Given the description of an element on the screen output the (x, y) to click on. 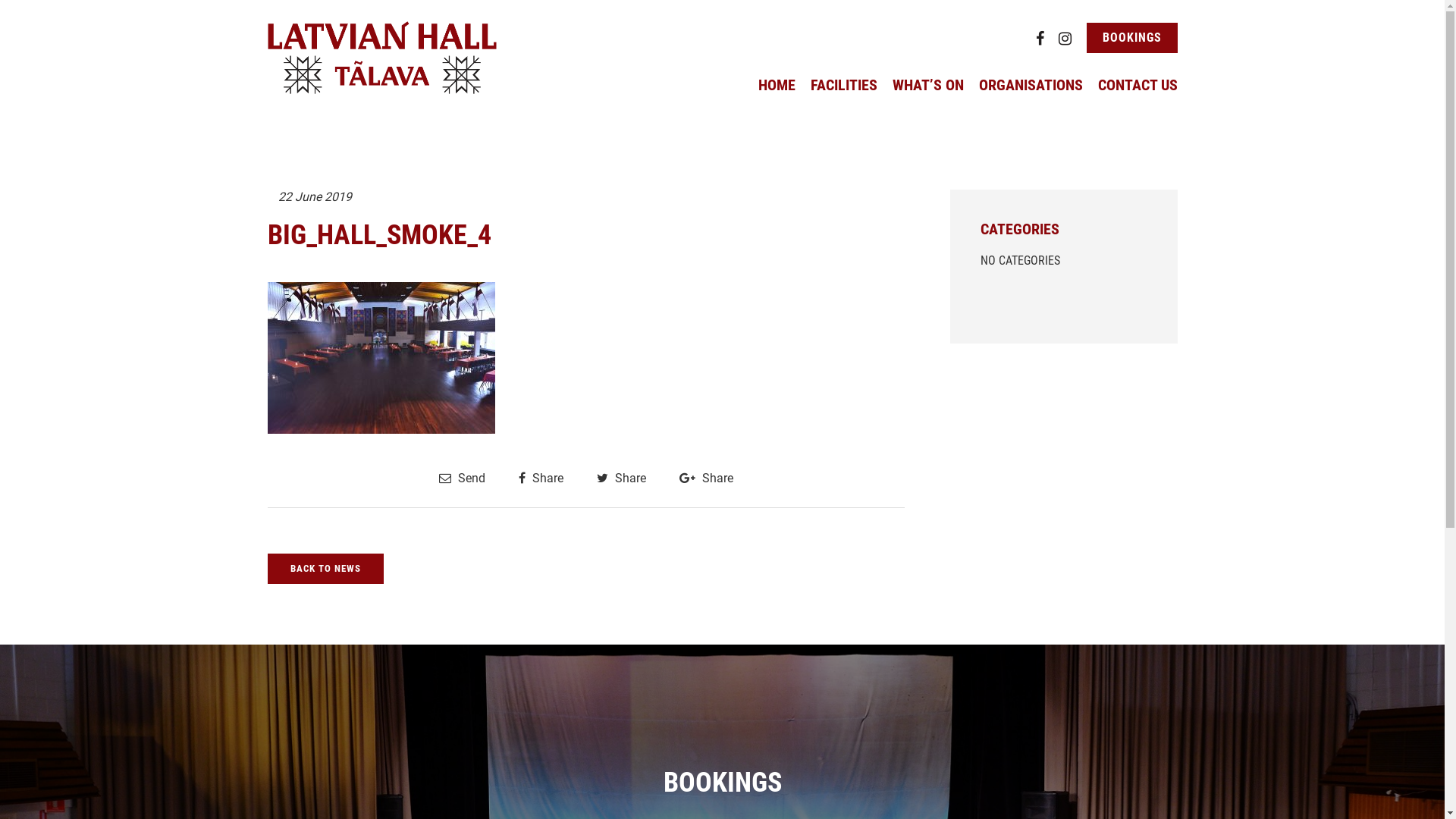
FACILITIES Element type: text (842, 84)
Share Element type: text (706, 477)
BACK TO NEWS Element type: text (324, 568)
HOME Element type: text (776, 84)
Share Element type: text (620, 477)
ORGANISATIONS Element type: text (1030, 84)
Send Element type: text (461, 477)
BOOKINGS Element type: text (1130, 37)
Share Element type: text (540, 477)
CONTACT US Element type: text (1137, 84)
